Given the description of an element on the screen output the (x, y) to click on. 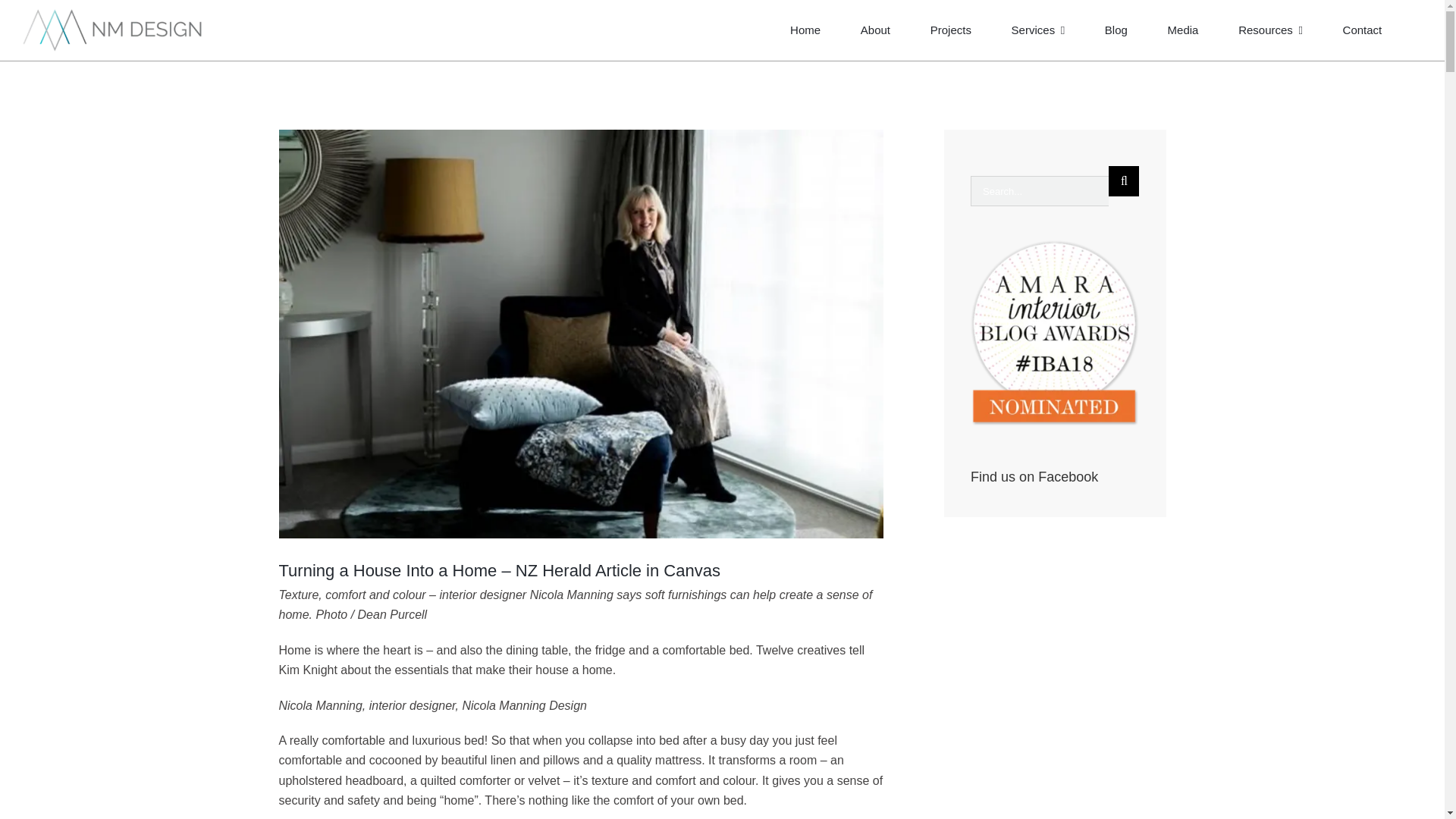
Services (1038, 30)
Projects (950, 30)
Resources (1271, 30)
